Given the description of an element on the screen output the (x, y) to click on. 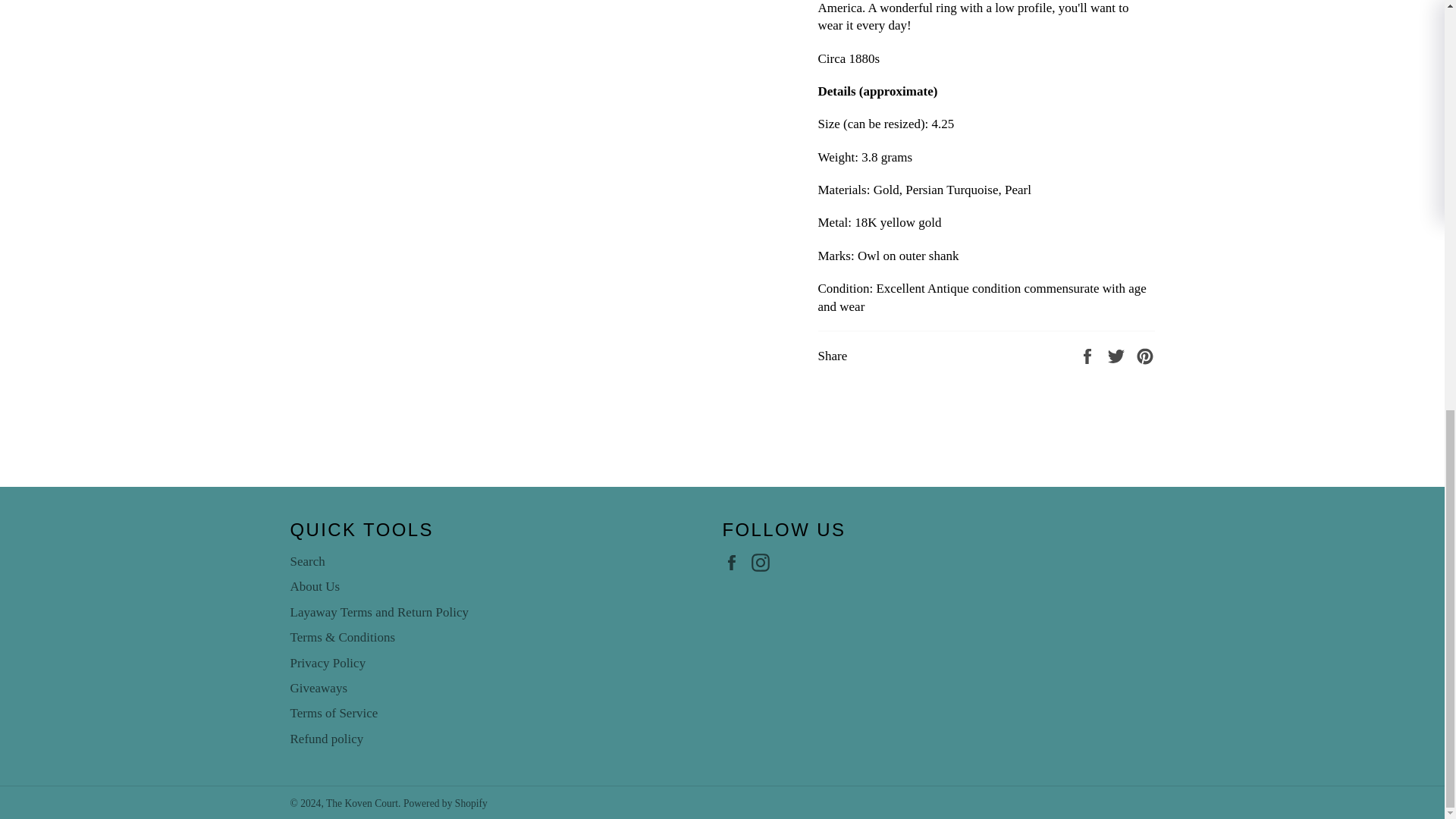
The Koven Court on Facebook (735, 561)
Tweet on Twitter (1117, 355)
Share on Facebook (1088, 355)
The Koven Court on Instagram (764, 561)
Share on Facebook (1088, 355)
Pin on Pinterest (1144, 355)
